Given the description of an element on the screen output the (x, y) to click on. 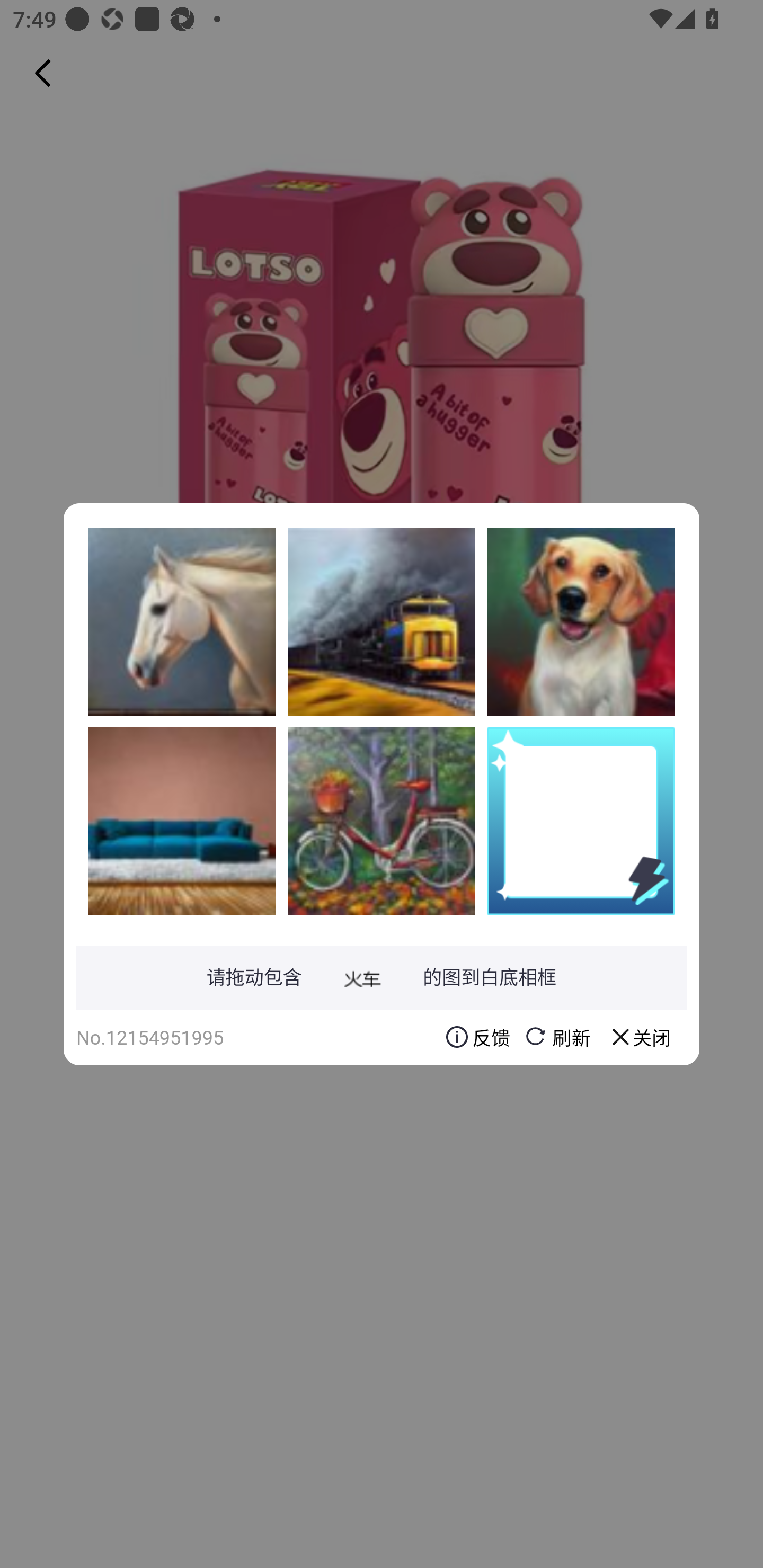
TaFAf8KQncyswYQ3kcy9MjODrPKk (181, 621)
BosnXQy2G1dD7MzzfqGLWq+OaqeKVr (381, 820)
